Given the description of an element on the screen output the (x, y) to click on. 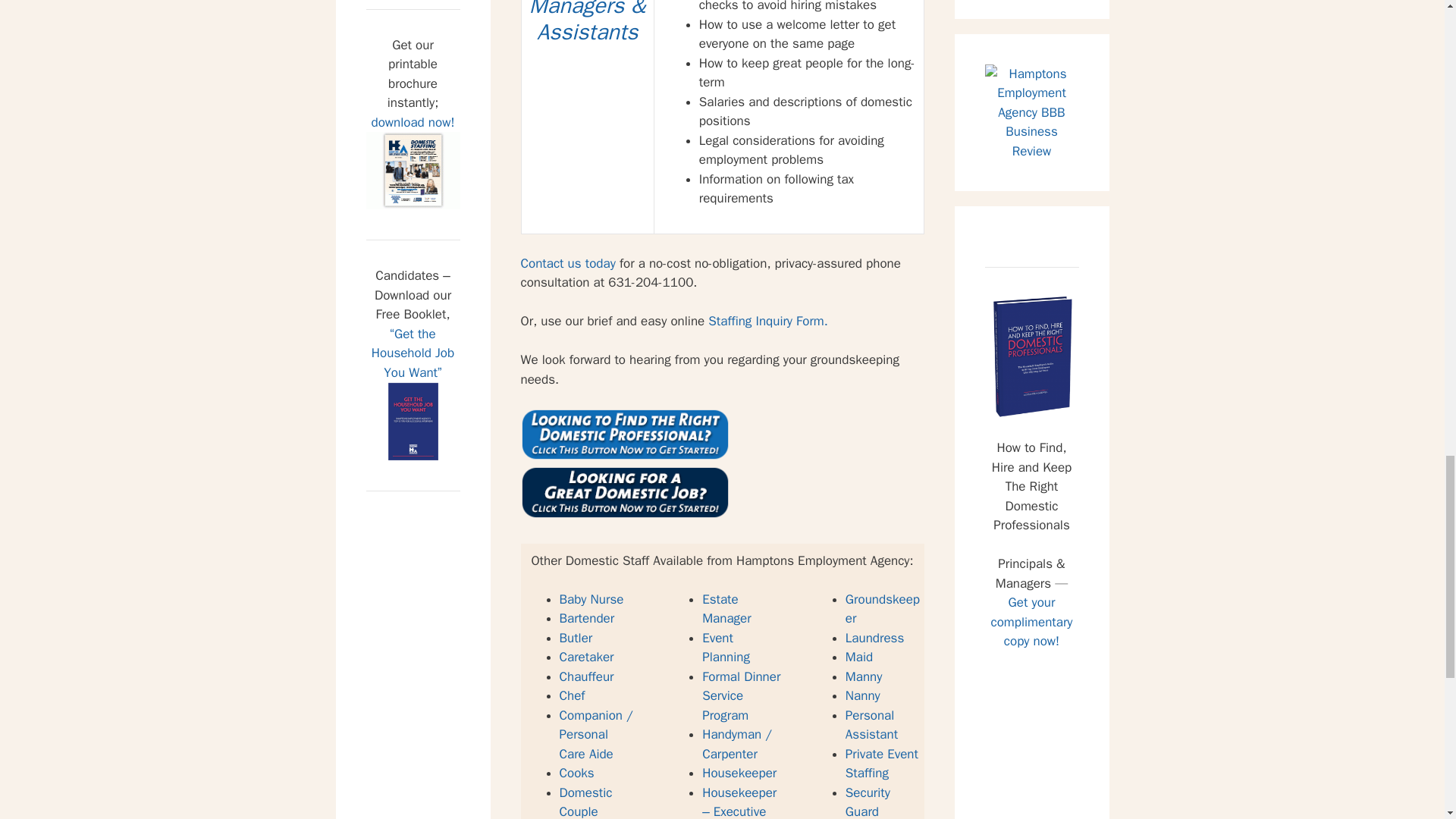
Staffing Inquiry Form. (767, 320)
Contact us today (566, 263)
Baby Nurse (591, 599)
